Given the description of an element on the screen output the (x, y) to click on. 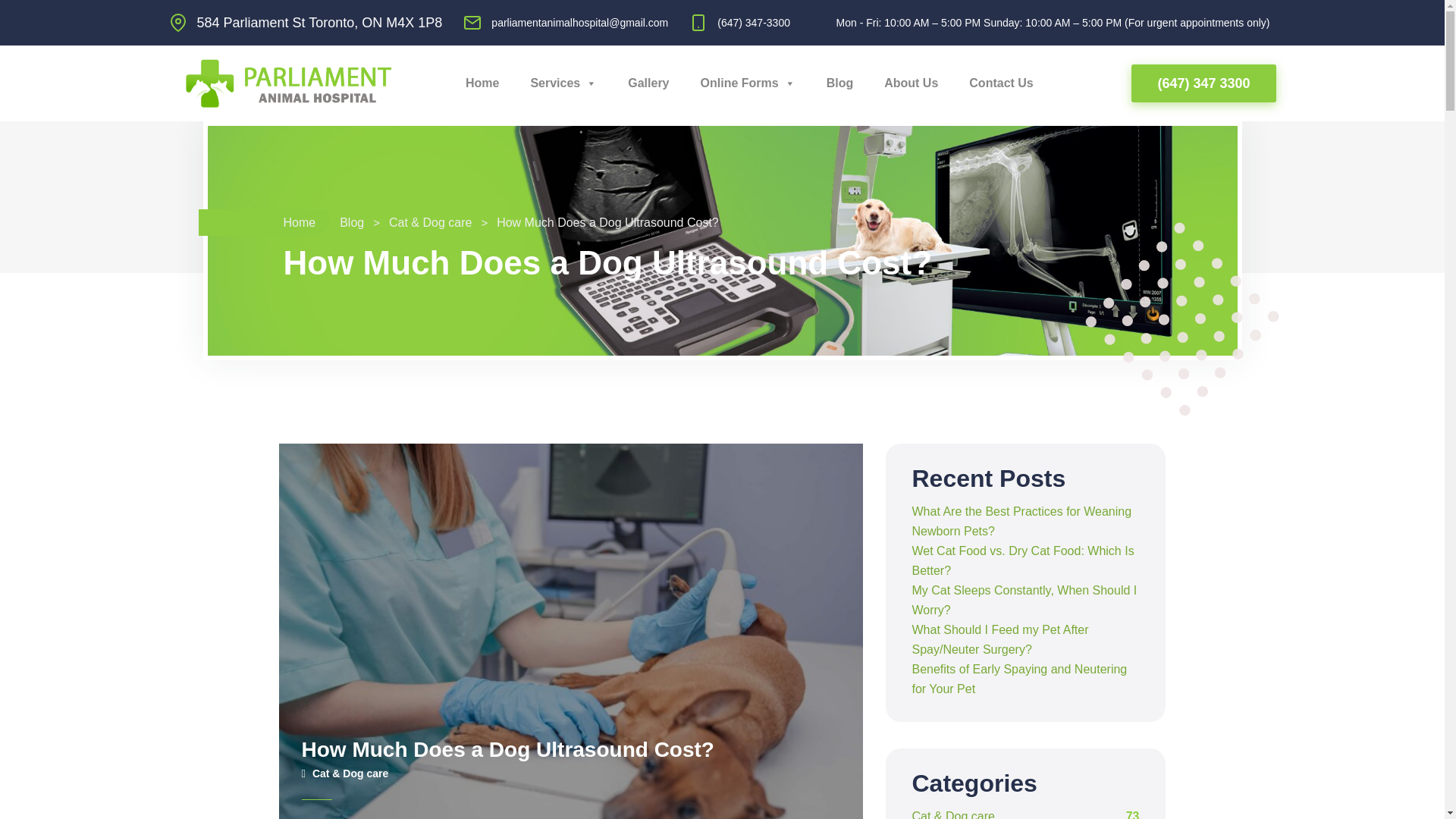
Services (559, 83)
Online Forms (743, 83)
Parliament Animal Hospital (287, 82)
About Us (906, 83)
Gallery (643, 83)
Home (478, 83)
Contact Us (996, 83)
Blog (836, 83)
